Given the description of an element on the screen output the (x, y) to click on. 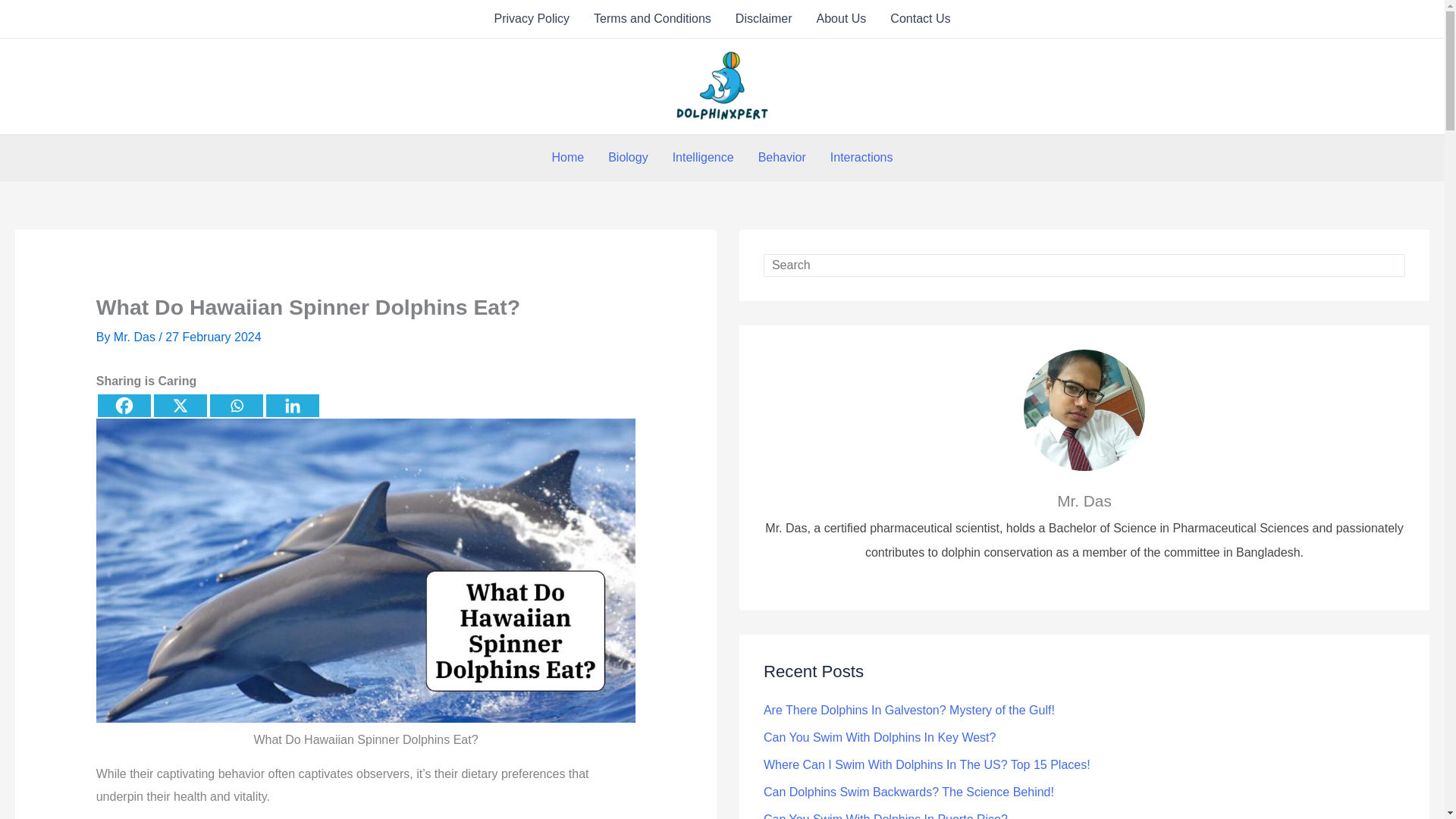
Home (568, 157)
Privacy Policy (531, 18)
Behavior (781, 157)
Contact Us (919, 18)
Biology (627, 157)
Mr. Das (135, 336)
Interactions (861, 157)
Facebook (124, 404)
X (180, 404)
Intelligence (703, 157)
Linkedin (292, 404)
View all posts by Mr. Das (135, 336)
Terms and Conditions (651, 18)
Disclaimer (764, 18)
Whatsapp (236, 404)
